Given the description of an element on the screen output the (x, y) to click on. 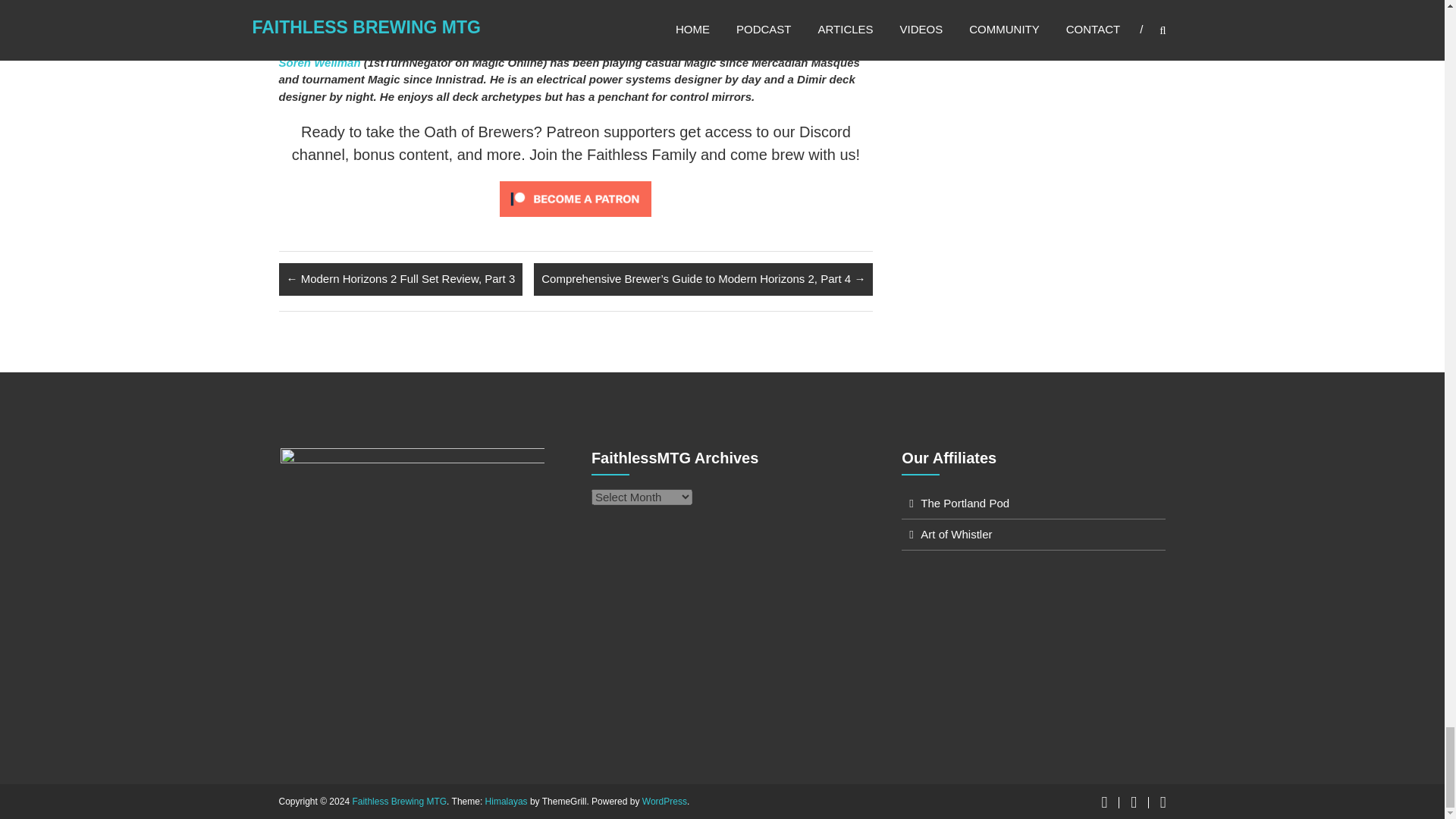
Himalayas (505, 801)
Soren Wellman (320, 62)
Faithless Brewing MTG (399, 801)
WordPress (664, 801)
